Given the description of an element on the screen output the (x, y) to click on. 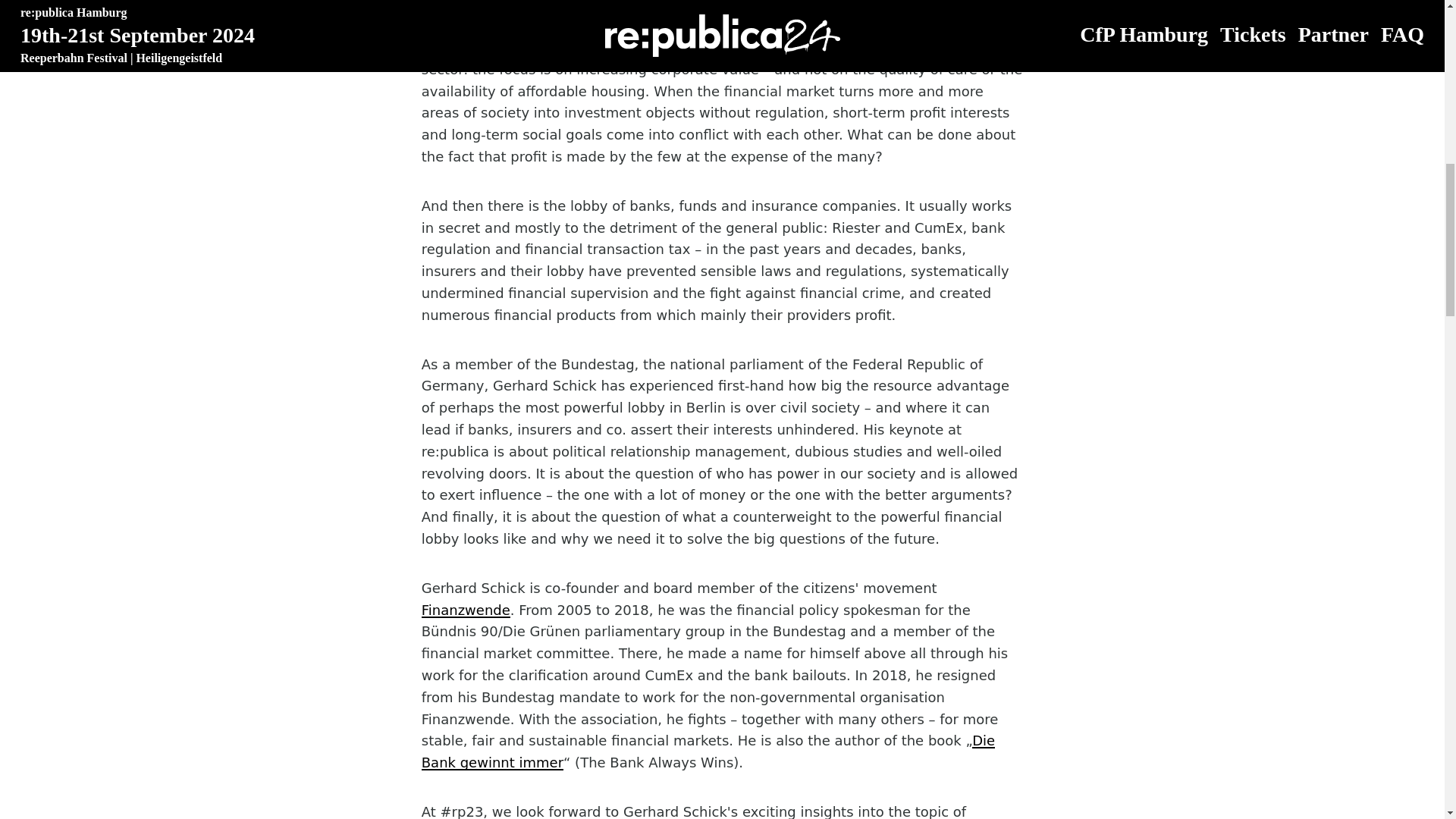
Finanzwende (466, 609)
Die Bank gewinnt immer (708, 751)
